Given the description of an element on the screen output the (x, y) to click on. 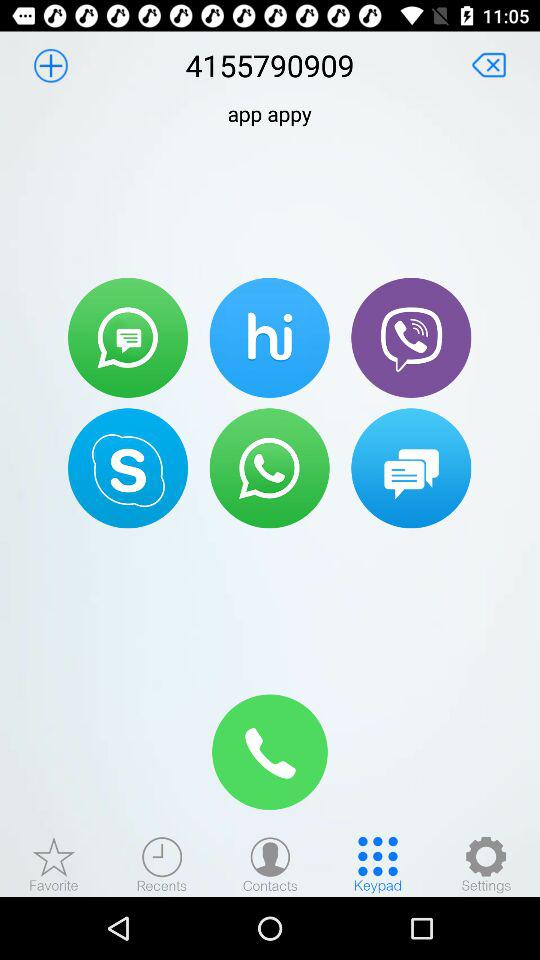
open the keyboard (377, 864)
